Given the description of an element on the screen output the (x, y) to click on. 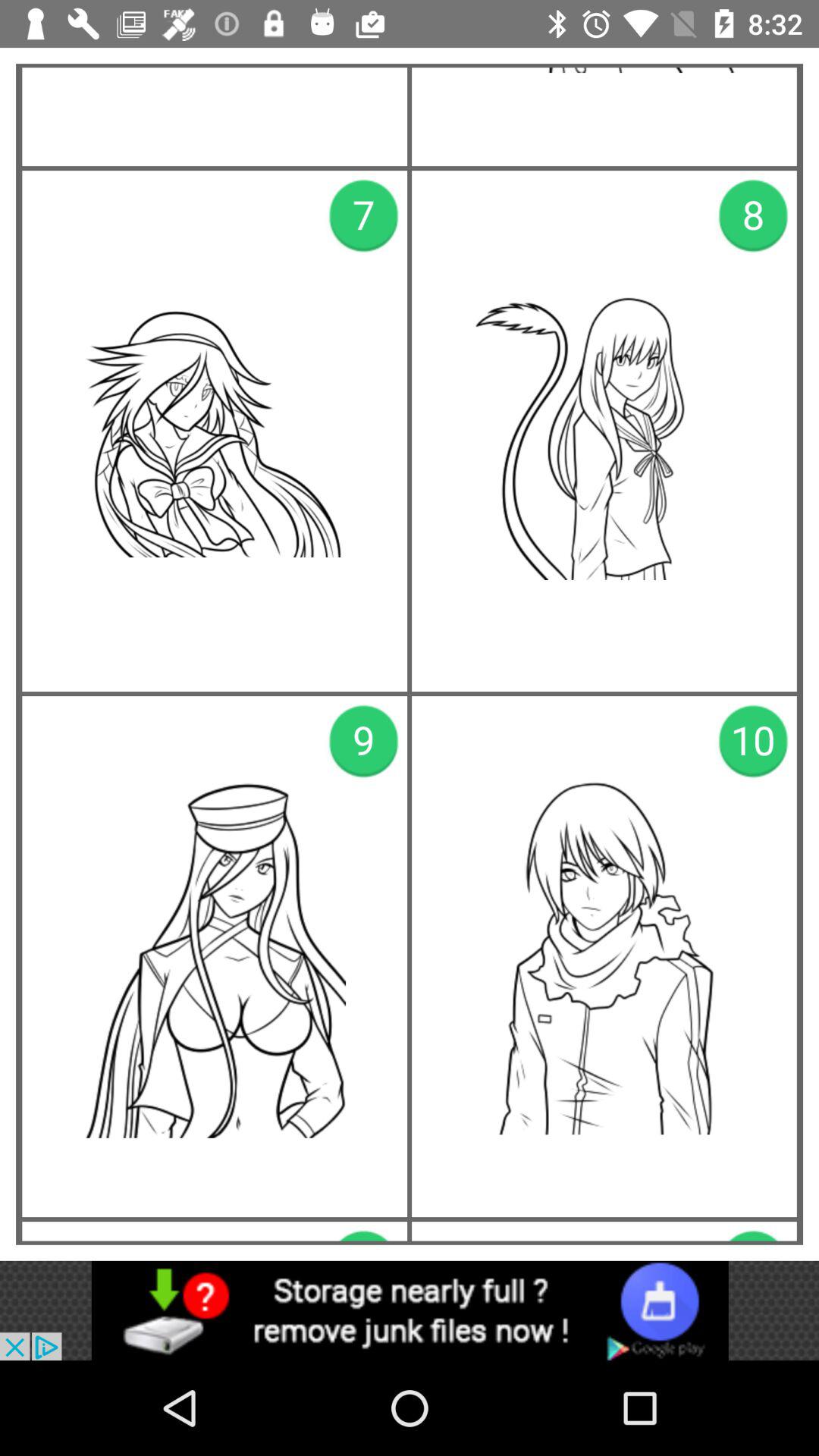
it shows the information about storage clean (409, 1310)
